Given the description of an element on the screen output the (x, y) to click on. 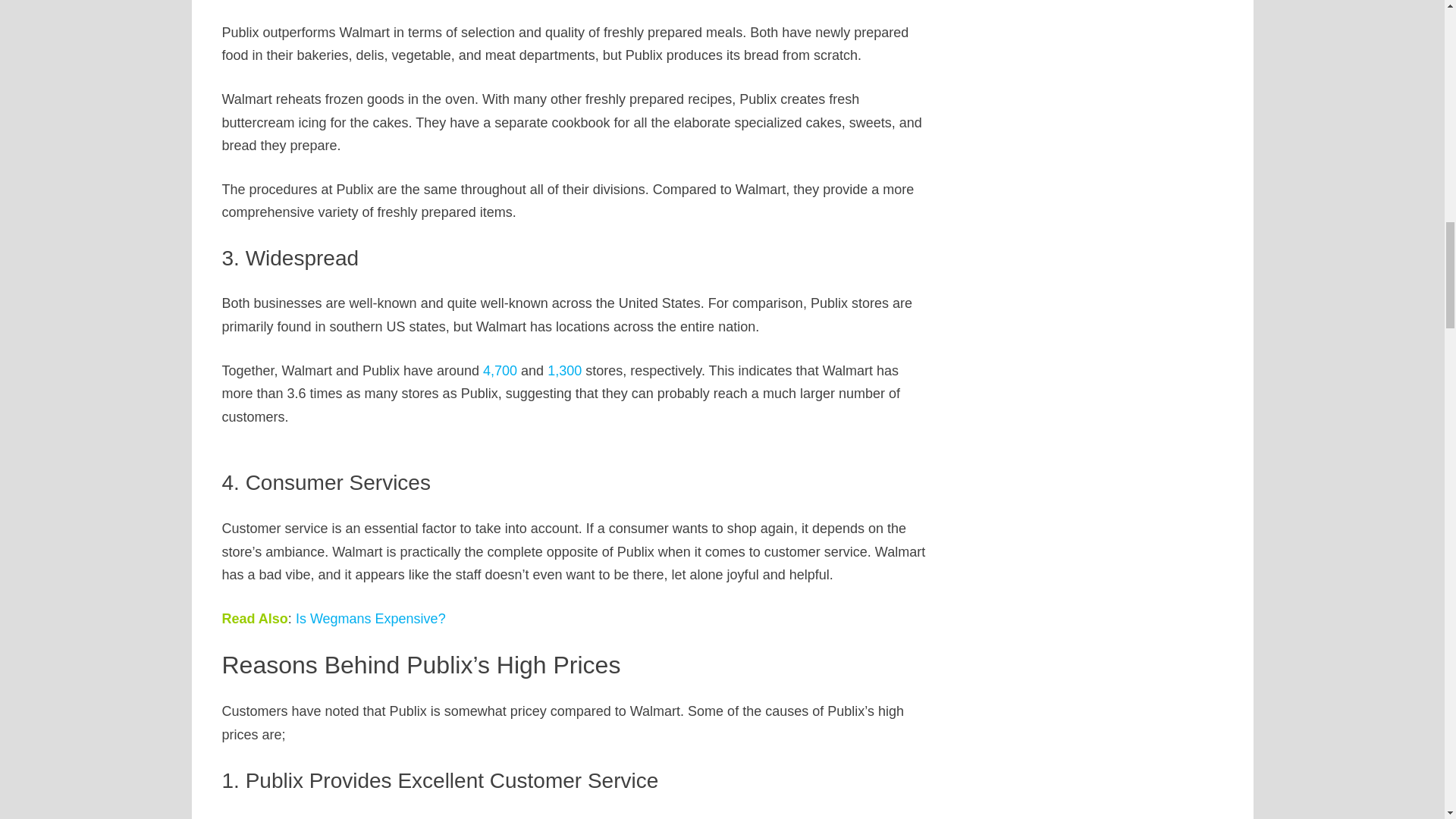
1,300 (563, 370)
Is Wegmans Expensive? (370, 618)
4,700 (499, 370)
